Given the description of an element on the screen output the (x, y) to click on. 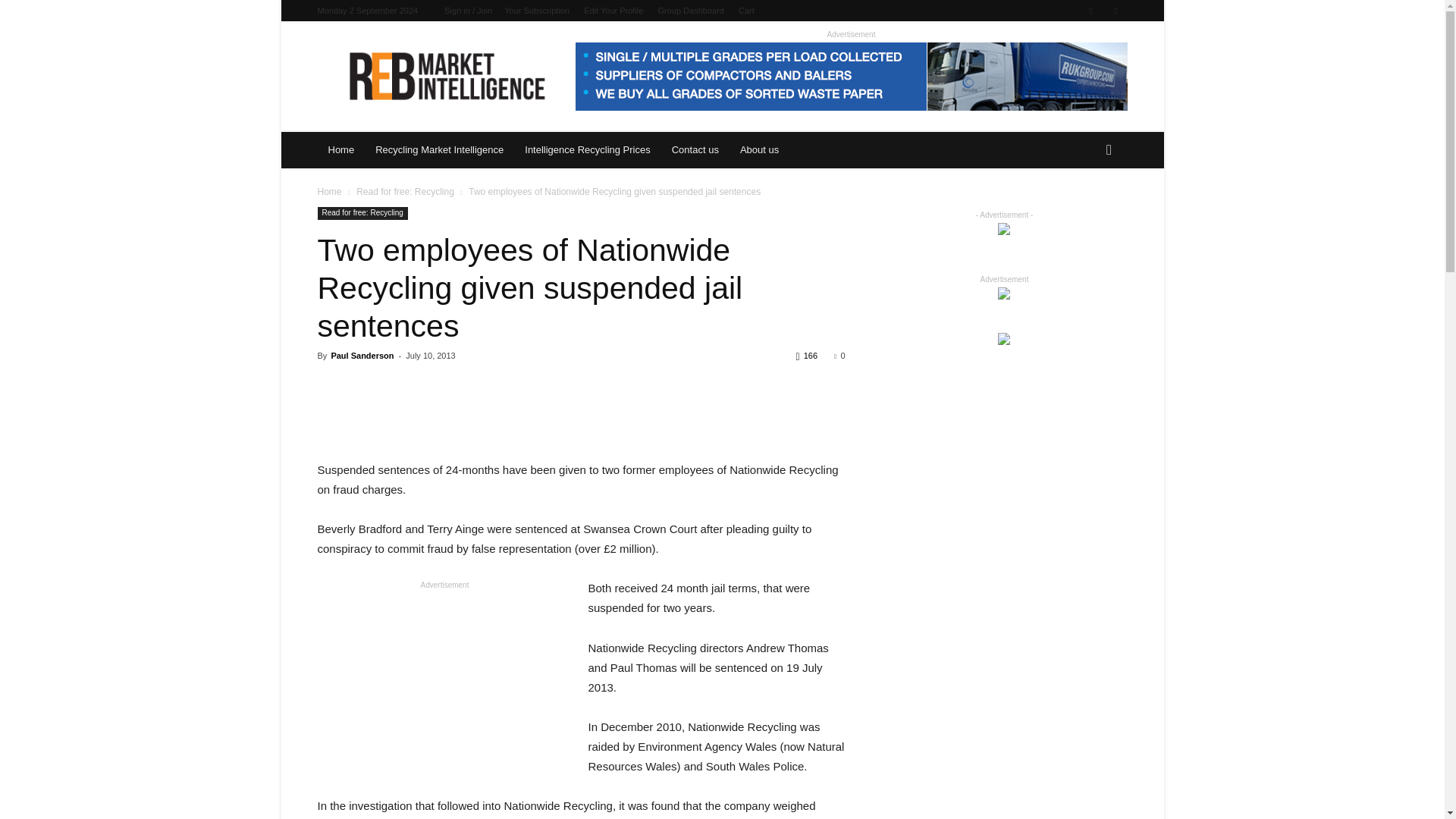
Your Subscription (536, 10)
Recycling Market Intelligence (439, 149)
Edit Your Profile (613, 10)
View all posts in Read for free: Recycling (405, 191)
Cart (746, 10)
Group Dashboard (690, 10)
Home (341, 149)
REB Market Intelligence (445, 76)
Linkedin (1090, 10)
Twitter (1114, 10)
